Given the description of an element on the screen output the (x, y) to click on. 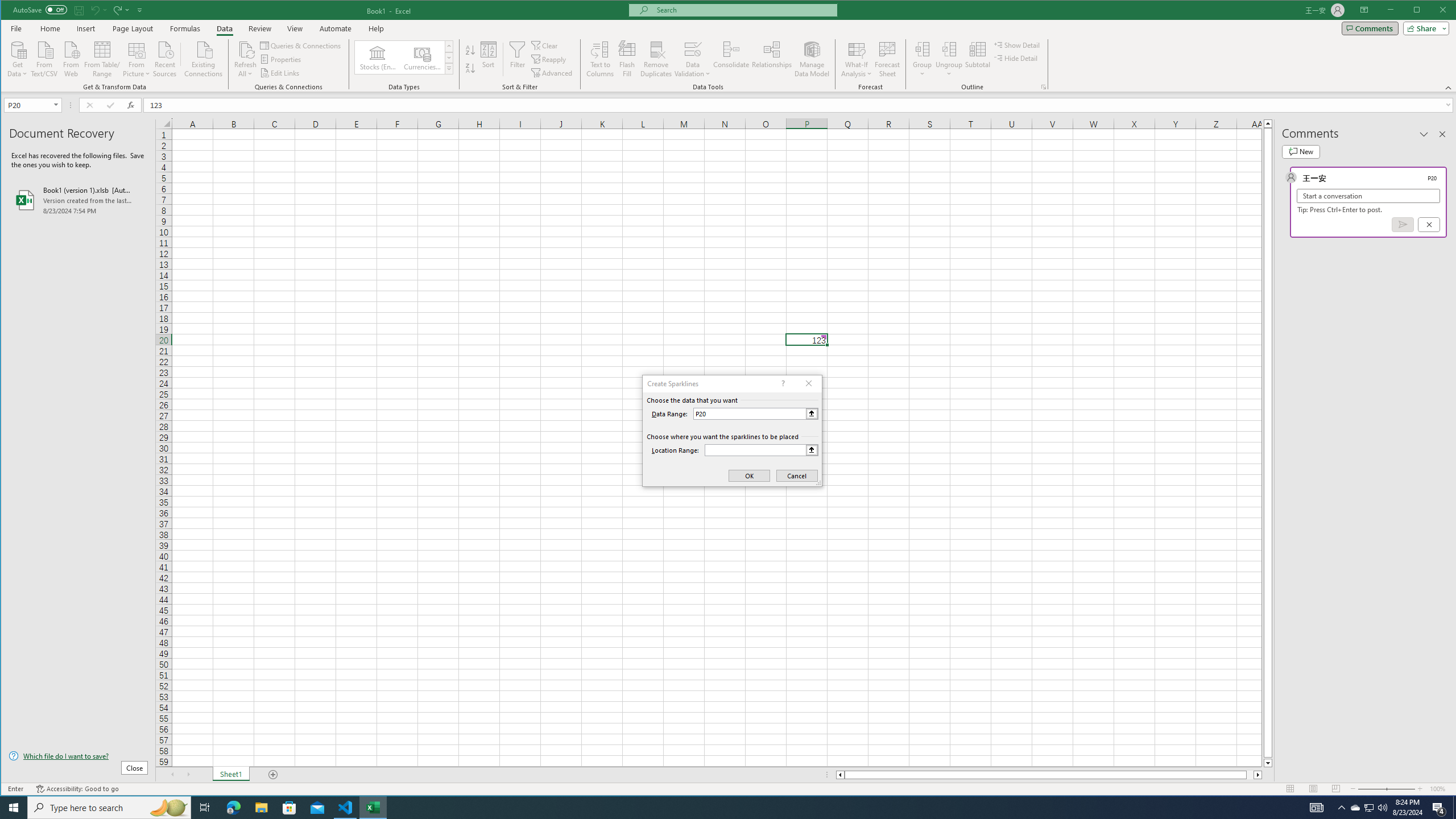
Consolidate... (731, 59)
